Given the description of an element on the screen output the (x, y) to click on. 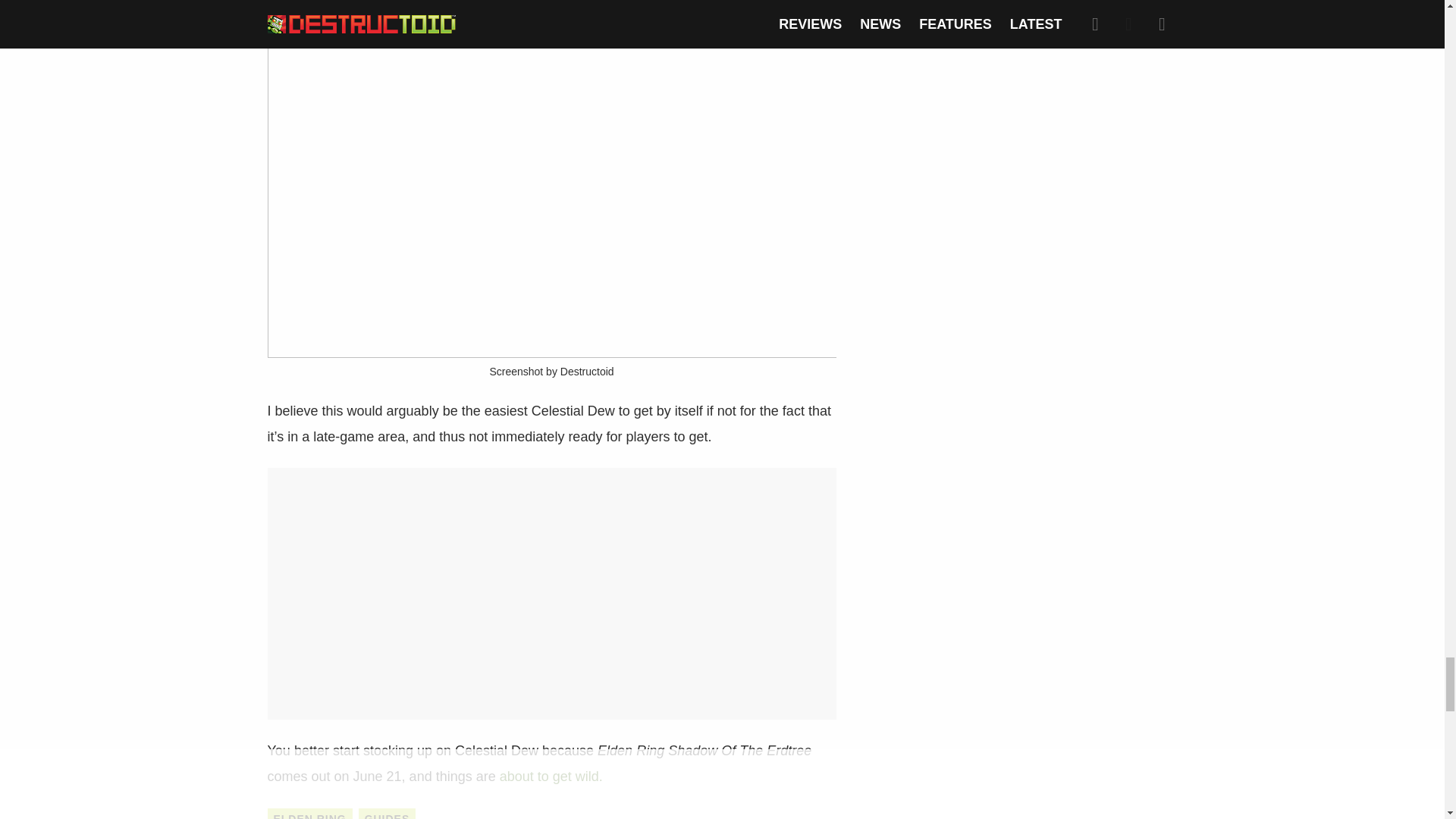
about to get wild. (550, 776)
